Given the description of an element on the screen output the (x, y) to click on. 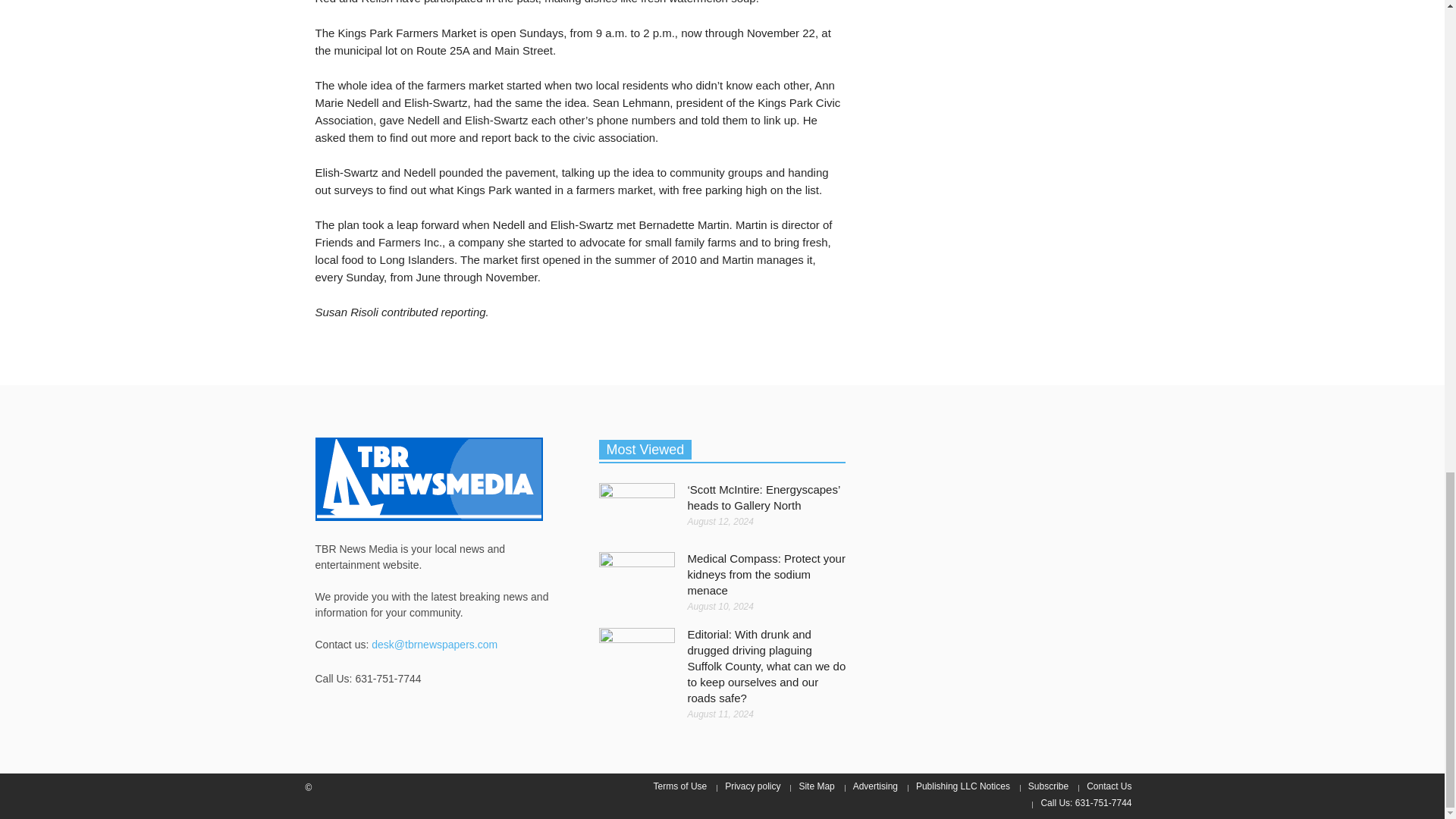
Medical Compass: Protect your kidneys from the sodium menace (766, 574)
Medical Compass: Protect your kidneys from the sodium menace (636, 576)
